Given the description of an element on the screen output the (x, y) to click on. 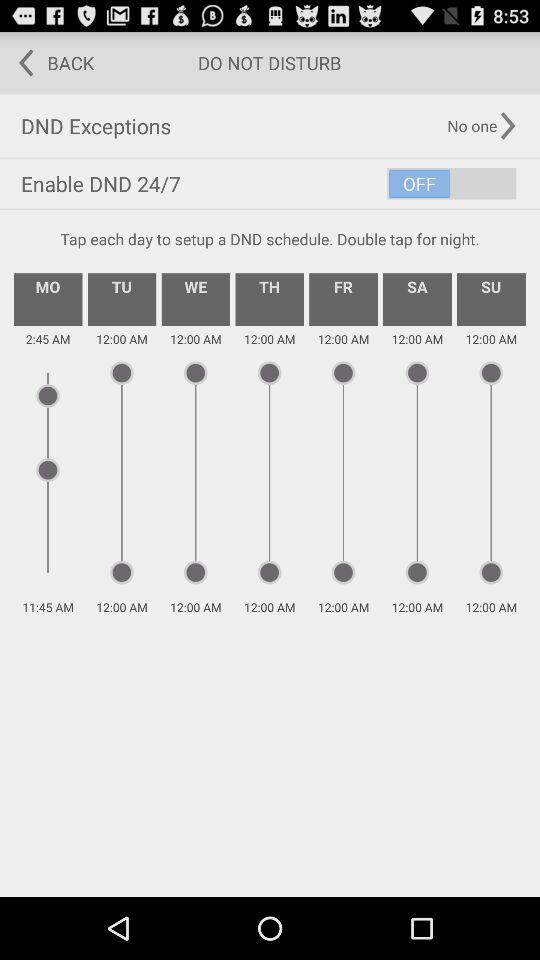
choose the sa (417, 299)
